Given the description of an element on the screen output the (x, y) to click on. 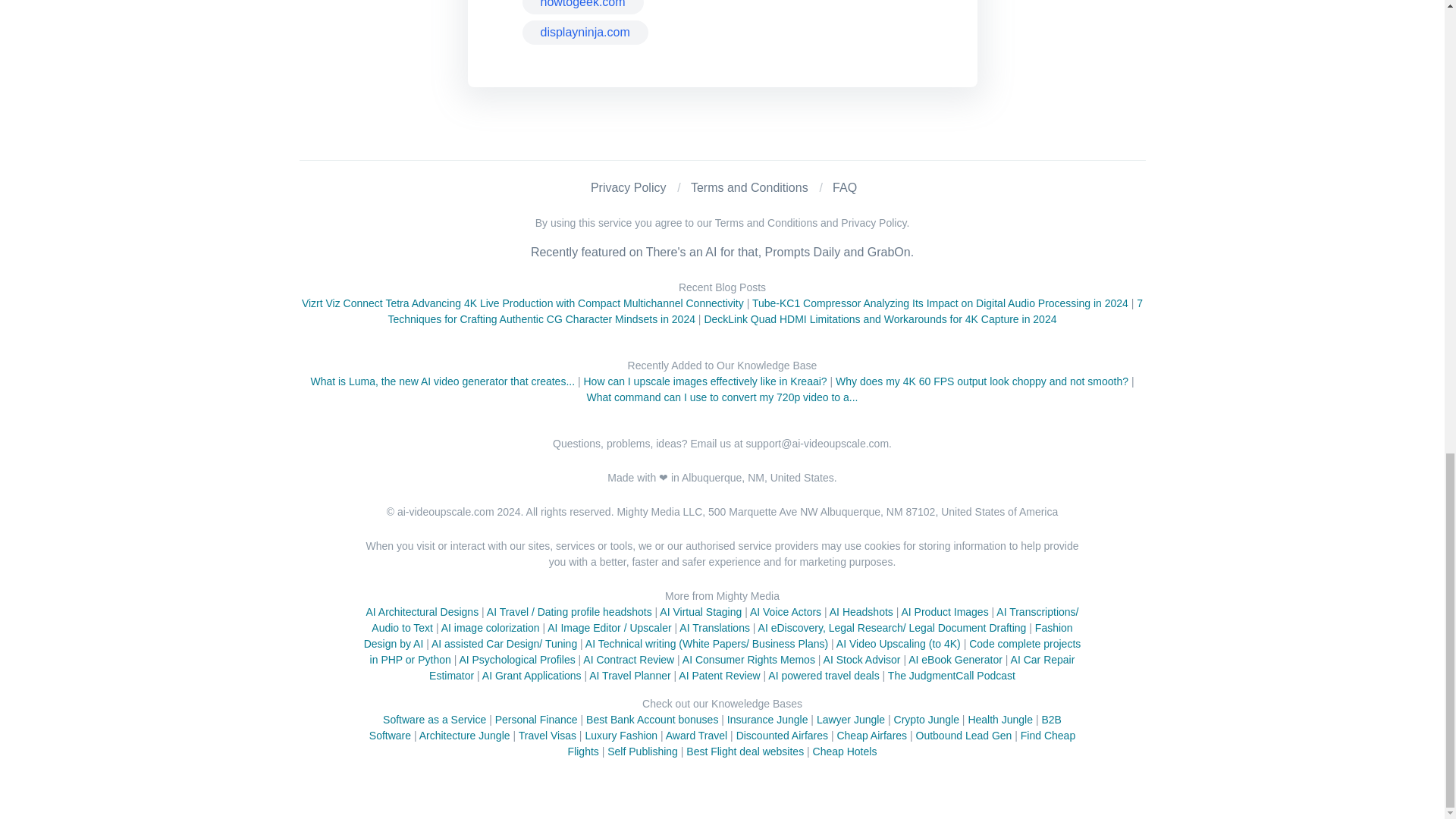
AI image colorization (490, 627)
AI Voice Actors (785, 612)
howtogeek.com (582, 7)
Privacy Policy (628, 187)
What is Luma, the new AI video generator that creates... (442, 381)
FAQ (844, 187)
AI Virtual Staging (700, 612)
